Given the description of an element on the screen output the (x, y) to click on. 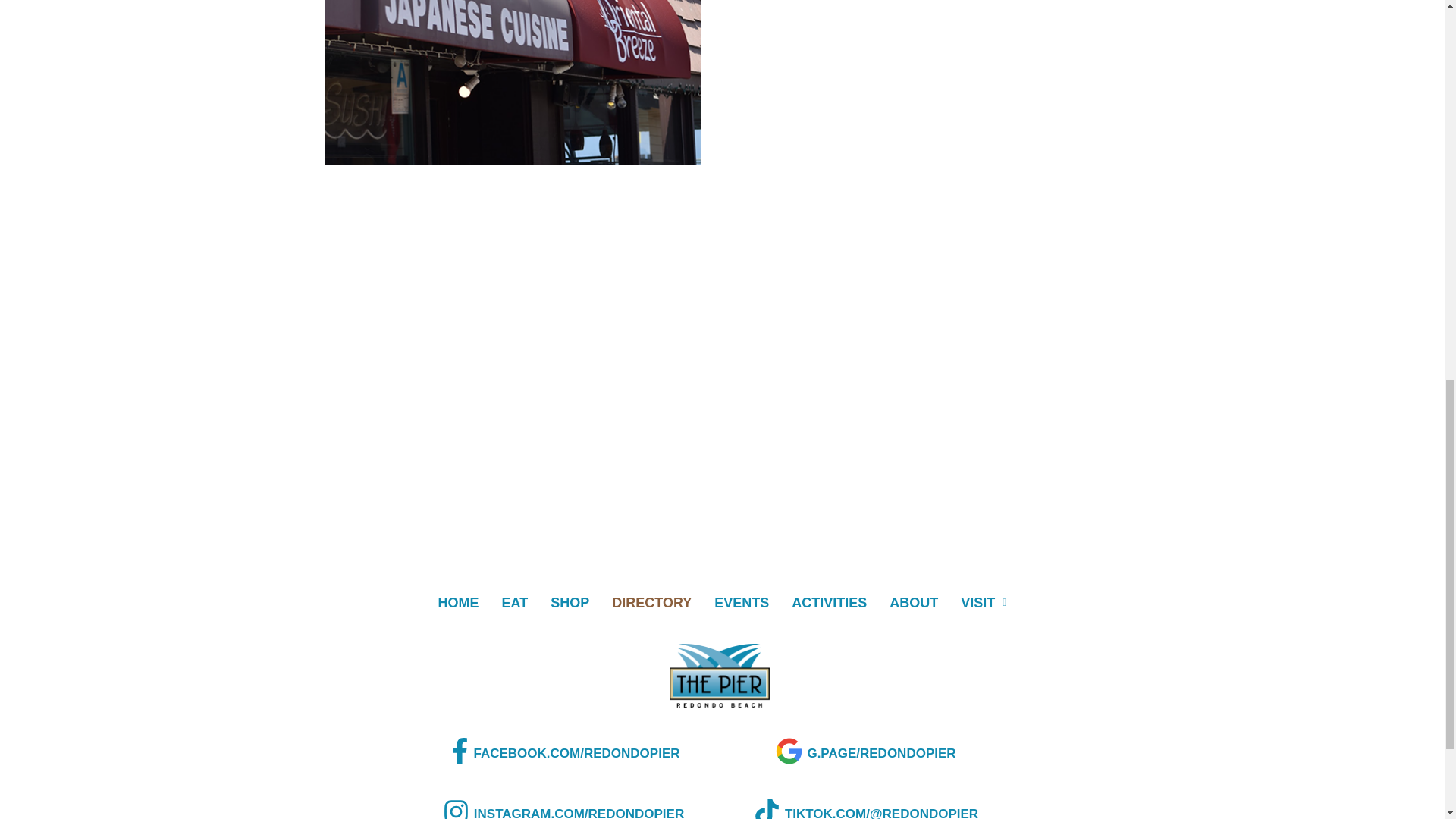
google-logo (789, 750)
EAT (515, 602)
ACTIVITIES (828, 602)
DIRECTORY (651, 602)
HOME (458, 602)
SHOP (568, 602)
VISIT (983, 602)
EVENTS (741, 602)
ABOUT (913, 602)
